Given the description of an element on the screen output the (x, y) to click on. 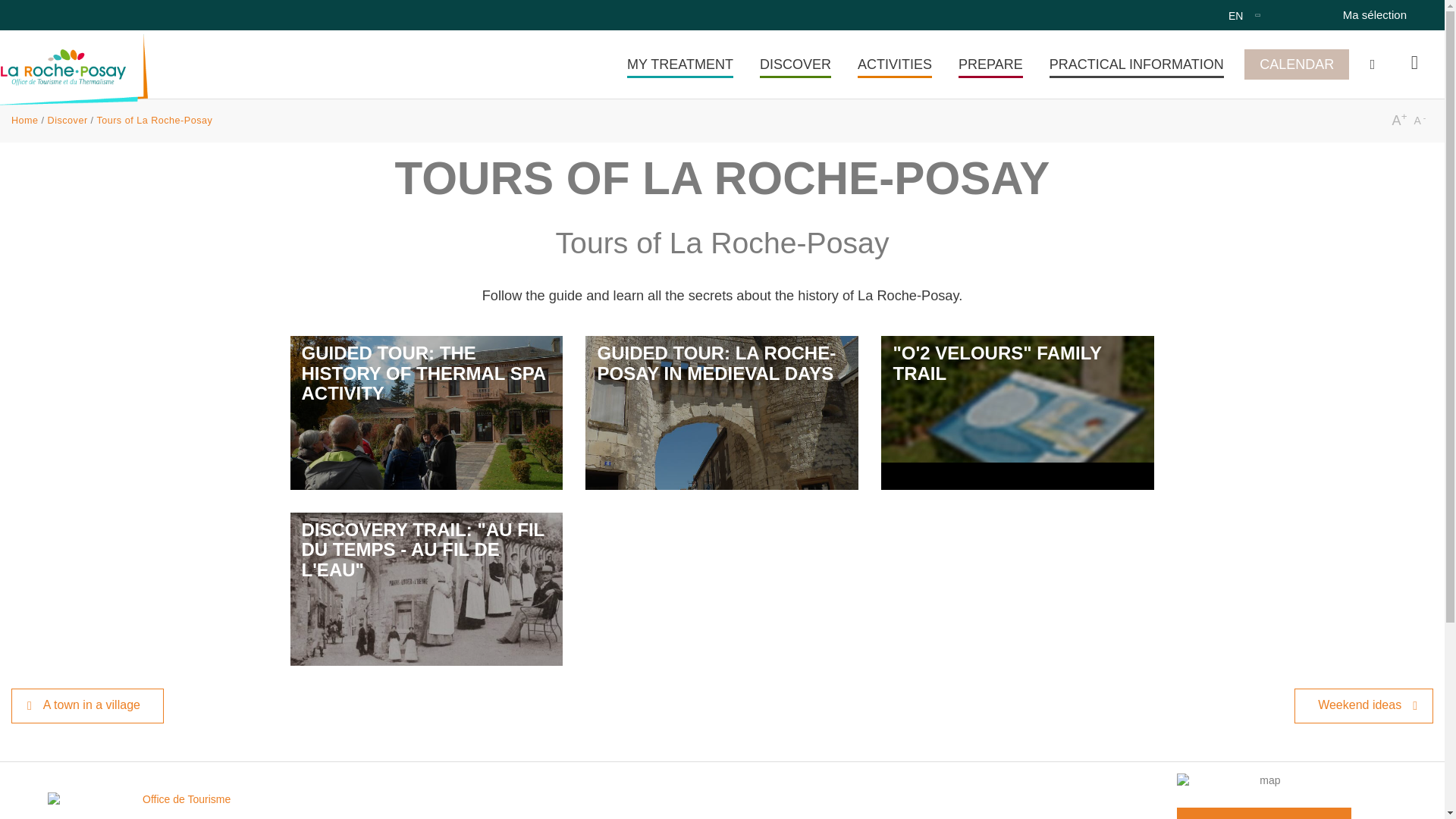
EN (1243, 15)
PREPARE (990, 64)
Logo de l'office de tourisme (180, 799)
DISCOVER (795, 64)
MY TREATMENT (680, 64)
Logo de l'office de tourisme (180, 799)
"O'2 velours" family trail (1017, 411)
Discovery trail: "Au fil du temps - Au fil de l'eau" (425, 588)
Guided tour: La Roche-Posay in medieval days (722, 411)
ACTIVITIES (894, 64)
Tours of La Roche-Posay (1243, 15)
Guided tour: the history of thermal spa activity (425, 411)
